Given the description of an element on the screen output the (x, y) to click on. 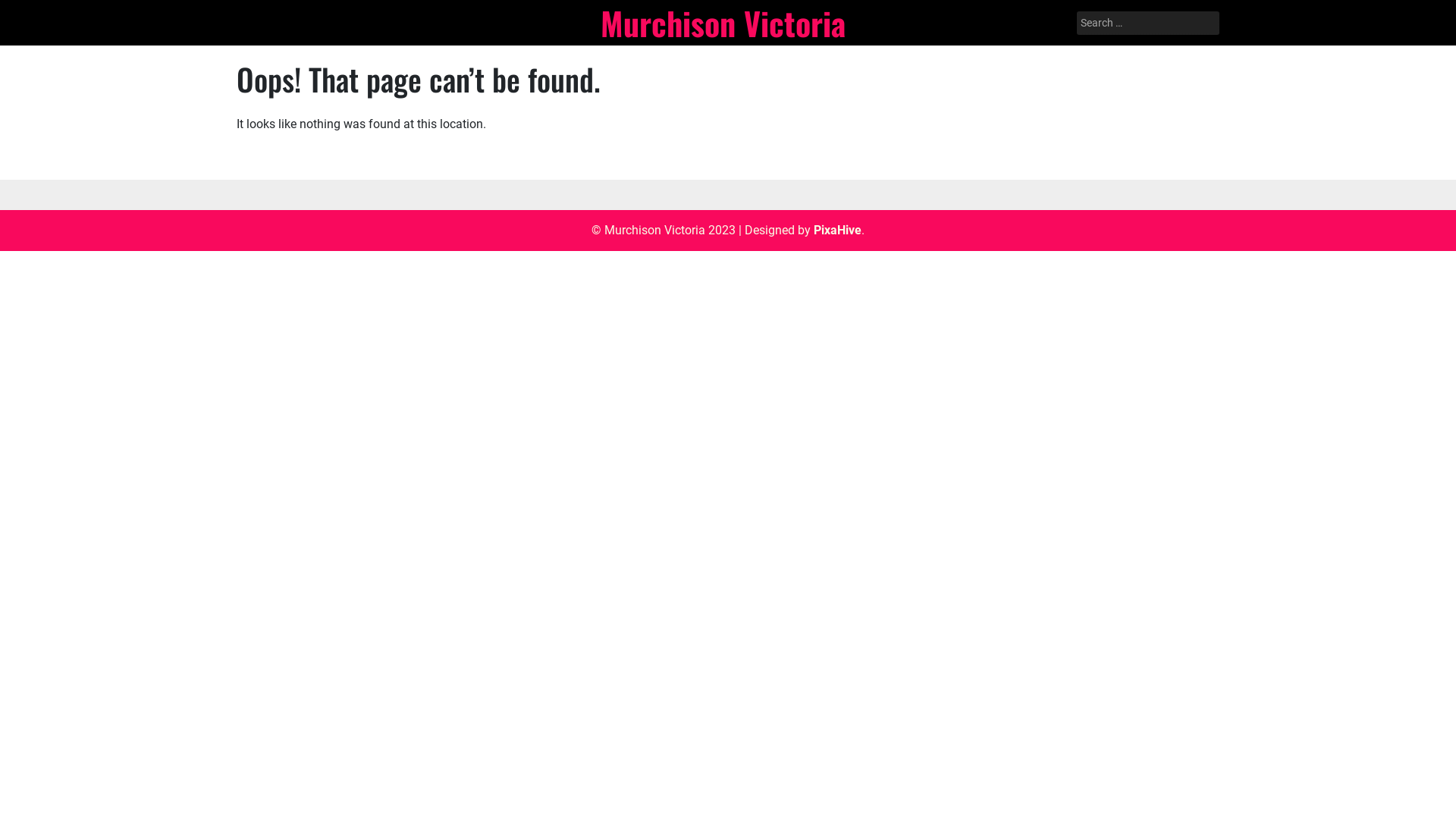
PixaHive Element type: text (837, 229)
Search Element type: text (31, 12)
Search Element type: text (30, 12)
